Given the description of an element on the screen output the (x, y) to click on. 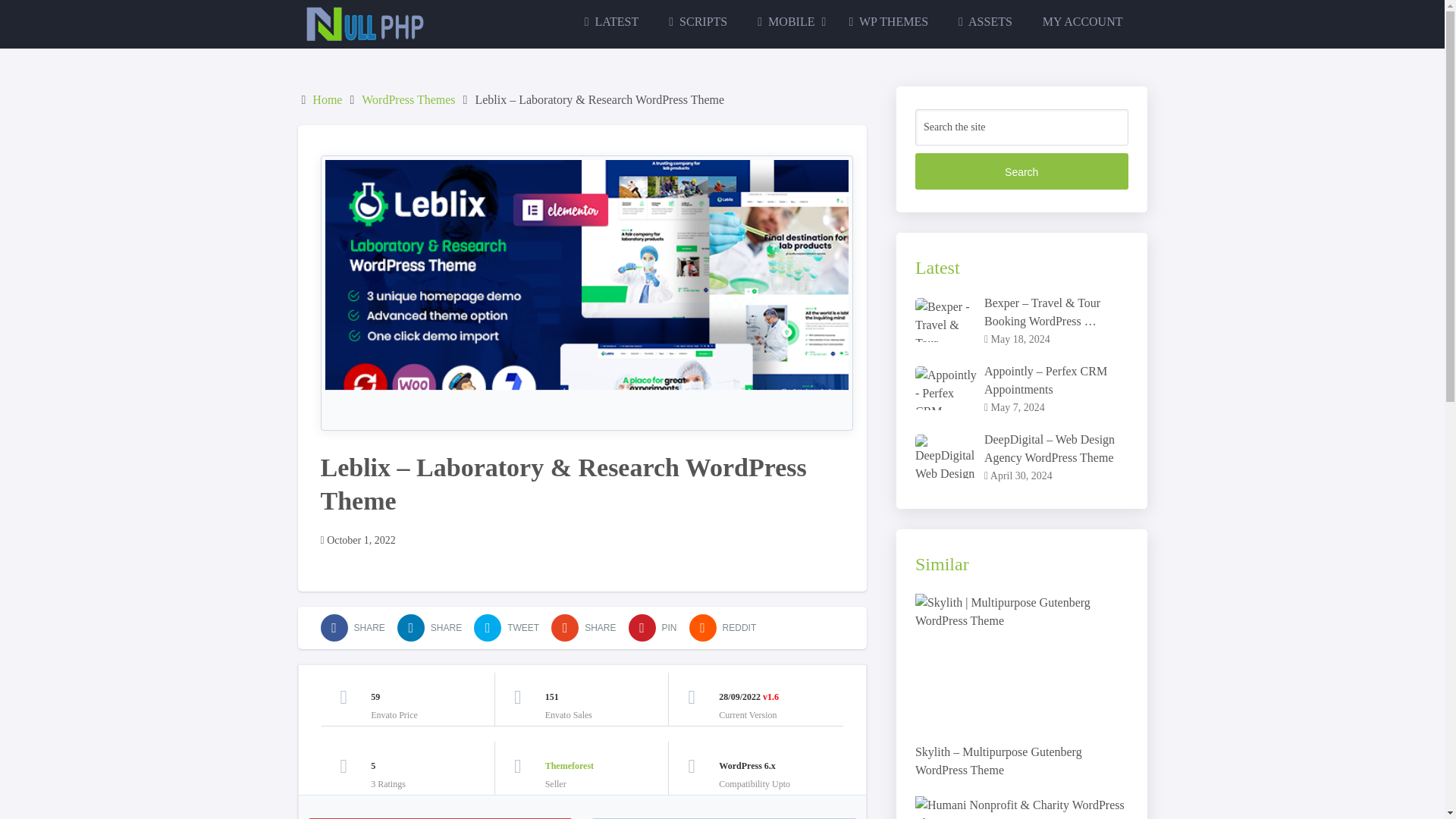
SCRIPTS (697, 21)
MOBILE (787, 21)
TWEET (506, 627)
PIN (652, 627)
LATEST (611, 21)
SHARE (583, 627)
